Given the description of an element on the screen output the (x, y) to click on. 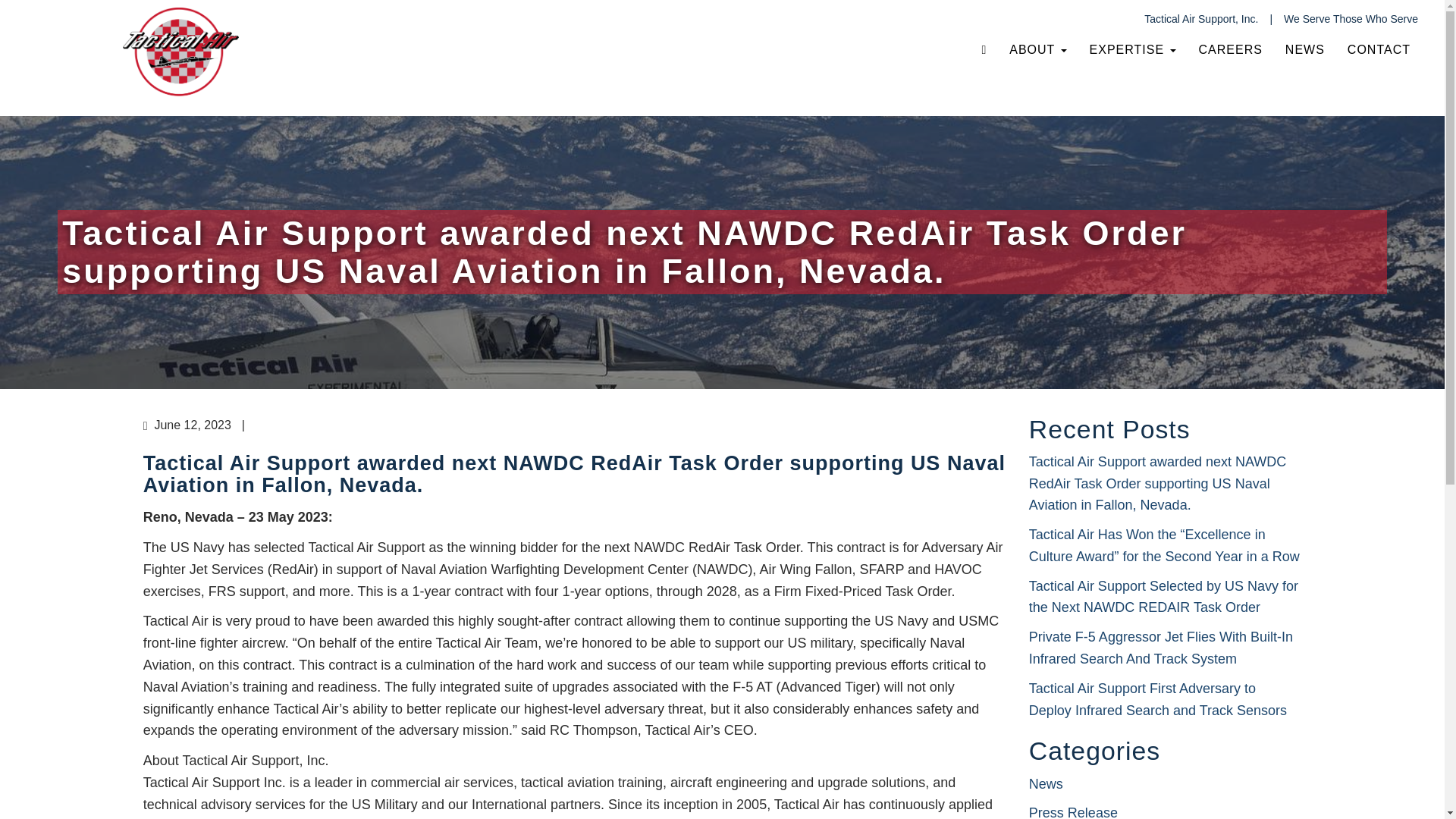
News (1045, 783)
Expertise (1133, 48)
About (1037, 48)
Press Release (1073, 812)
TACTICAL AIR SUPPORT (480, 48)
NEWS (1305, 48)
EXPERTISE (1133, 48)
ABOUT (1037, 48)
Contact (1379, 48)
News (1305, 48)
CAREERS (1231, 48)
